Given the description of an element on the screen output the (x, y) to click on. 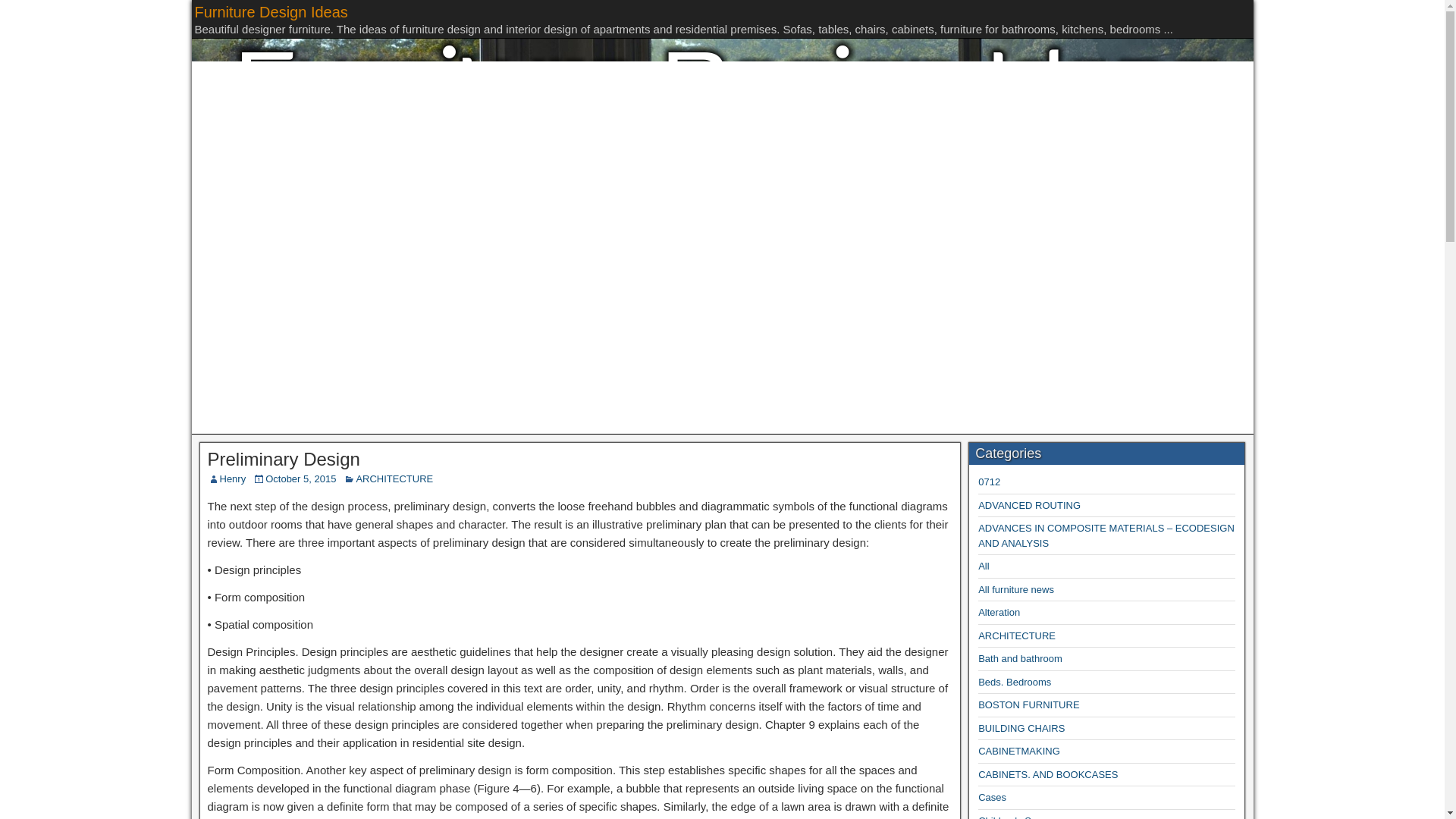
Children's Spaces (1017, 816)
All furniture news (1016, 589)
Preliminary Design (283, 458)
ARCHITECTURE (1016, 635)
Alteration (999, 612)
ARCHITECTURE (393, 478)
October 5, 2015 (300, 478)
CABINETMAKING (1018, 750)
Bath and bathroom (1020, 658)
All (983, 565)
Henry (232, 478)
Furniture Design Ideas (270, 12)
CABINETS. AND BOOKCASES (1048, 774)
BUILDING CHAIRS (1021, 727)
0712 (989, 481)
